Given the description of an element on the screen output the (x, y) to click on. 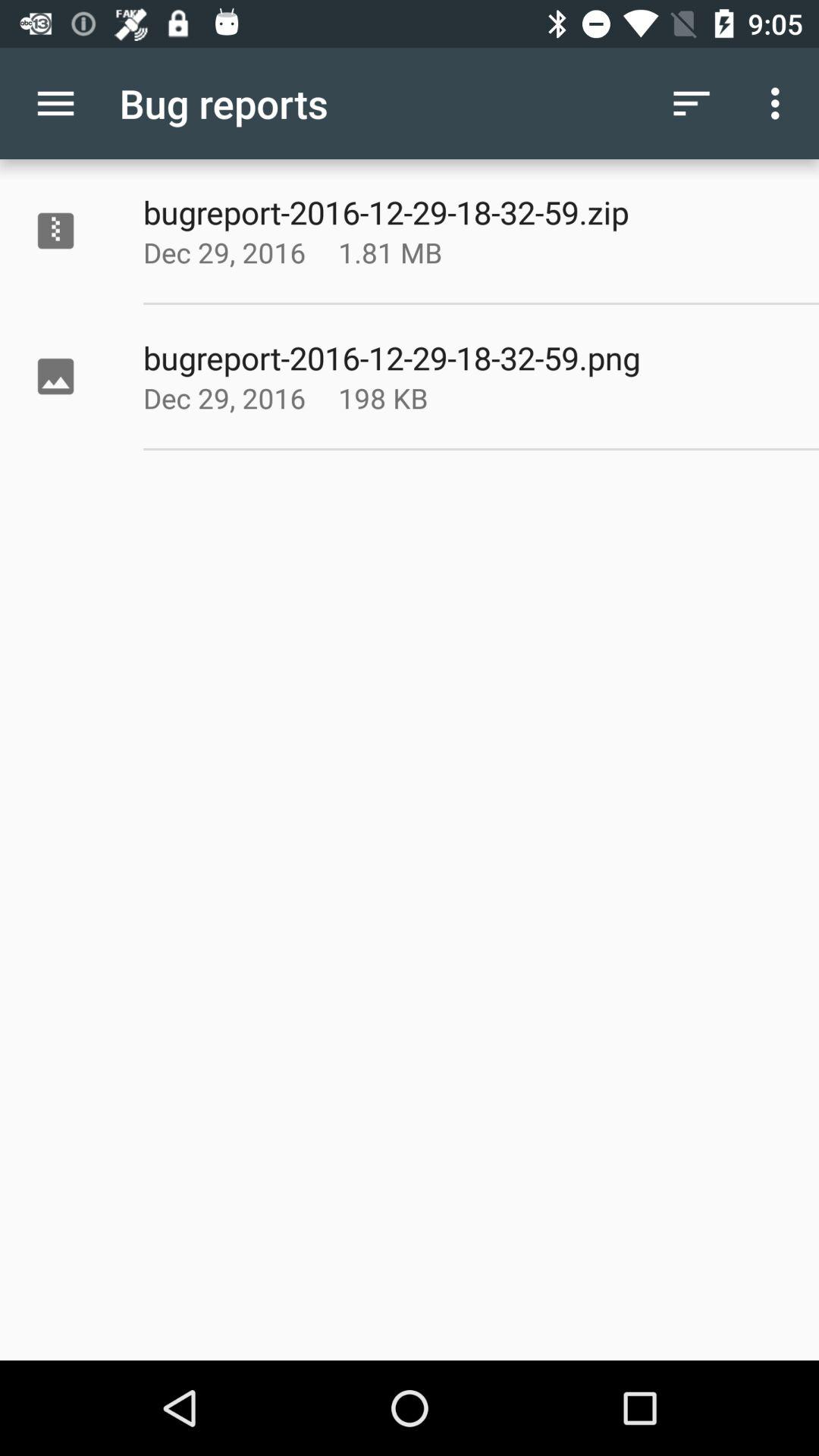
turn on icon below the bugreport 2016 12 icon (427, 397)
